Given the description of an element on the screen output the (x, y) to click on. 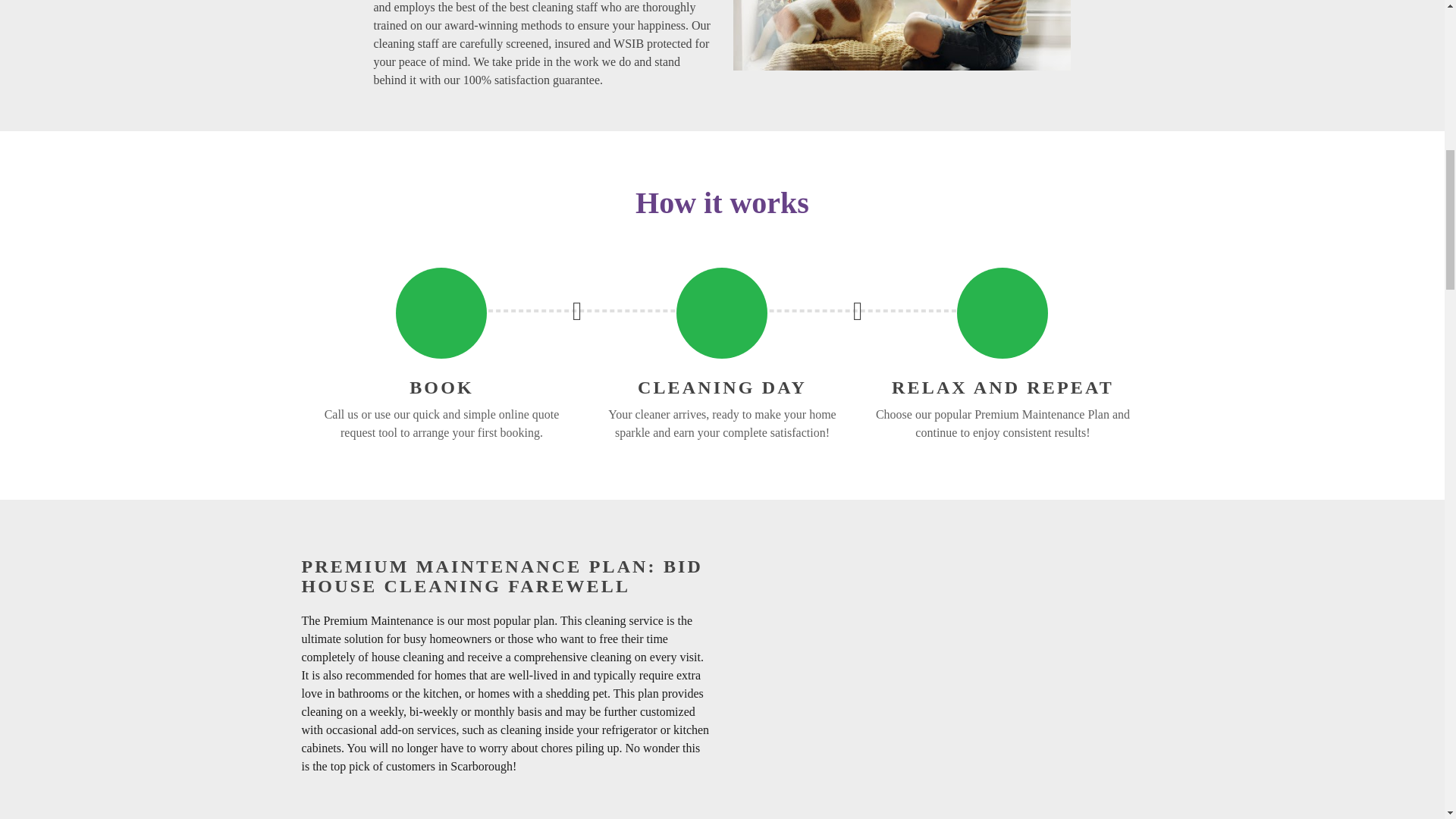
repeat-enjoy (1002, 313)
clean-icon1 (721, 313)
BOOK (441, 387)
premium-plan (937, 647)
book-icon1 (440, 313)
Hire A Maid - cleaning services in Toronto and GTA (901, 35)
